Given the description of an element on the screen output the (x, y) to click on. 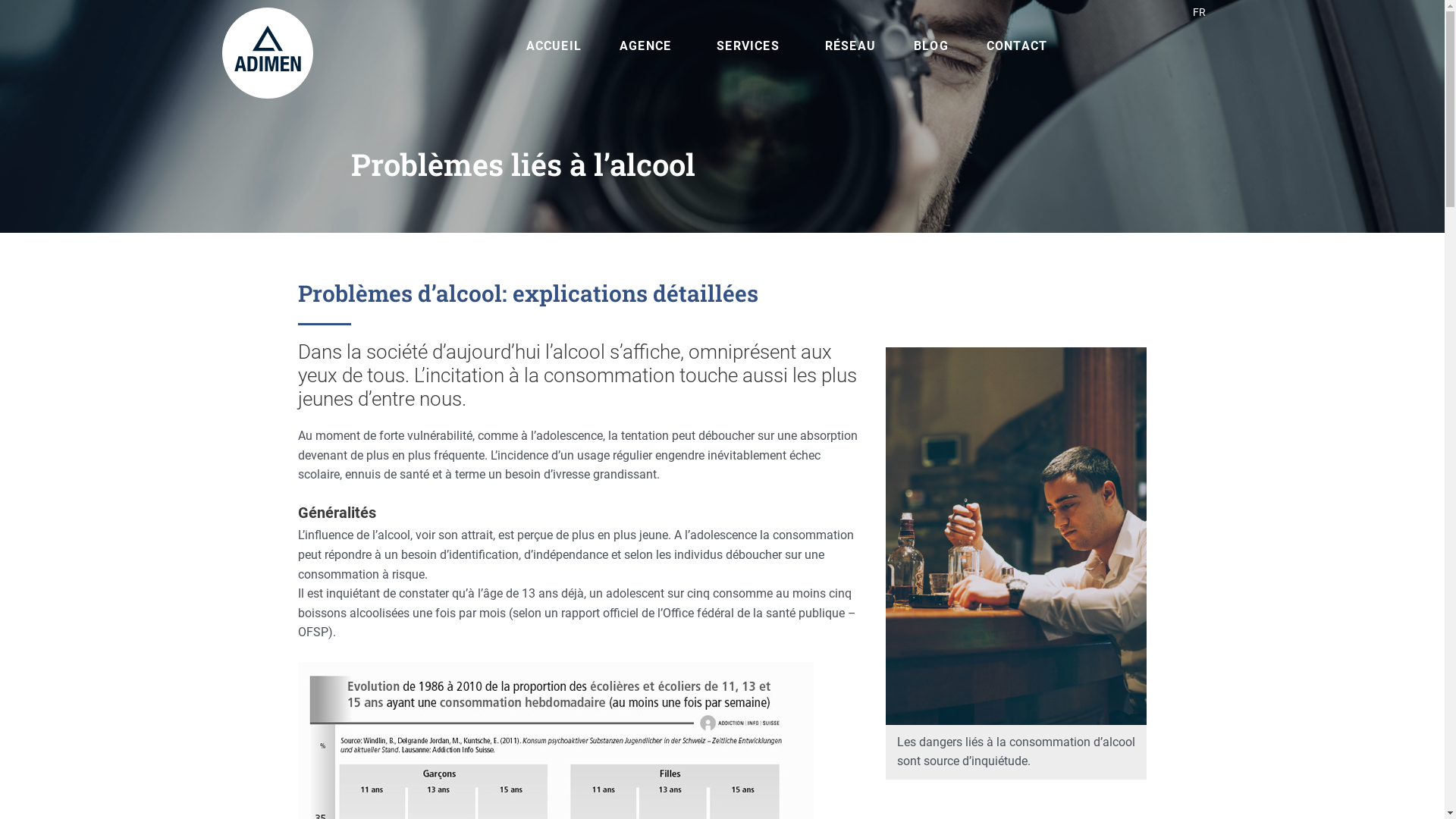
ACCUEIL Element type: text (553, 45)
SERVICES Element type: text (751, 45)
CONTACT Element type: text (1016, 45)
BLOG Element type: text (931, 45)
AGENCE Element type: text (648, 45)
FR Element type: text (1199, 11)
